Given the description of an element on the screen output the (x, y) to click on. 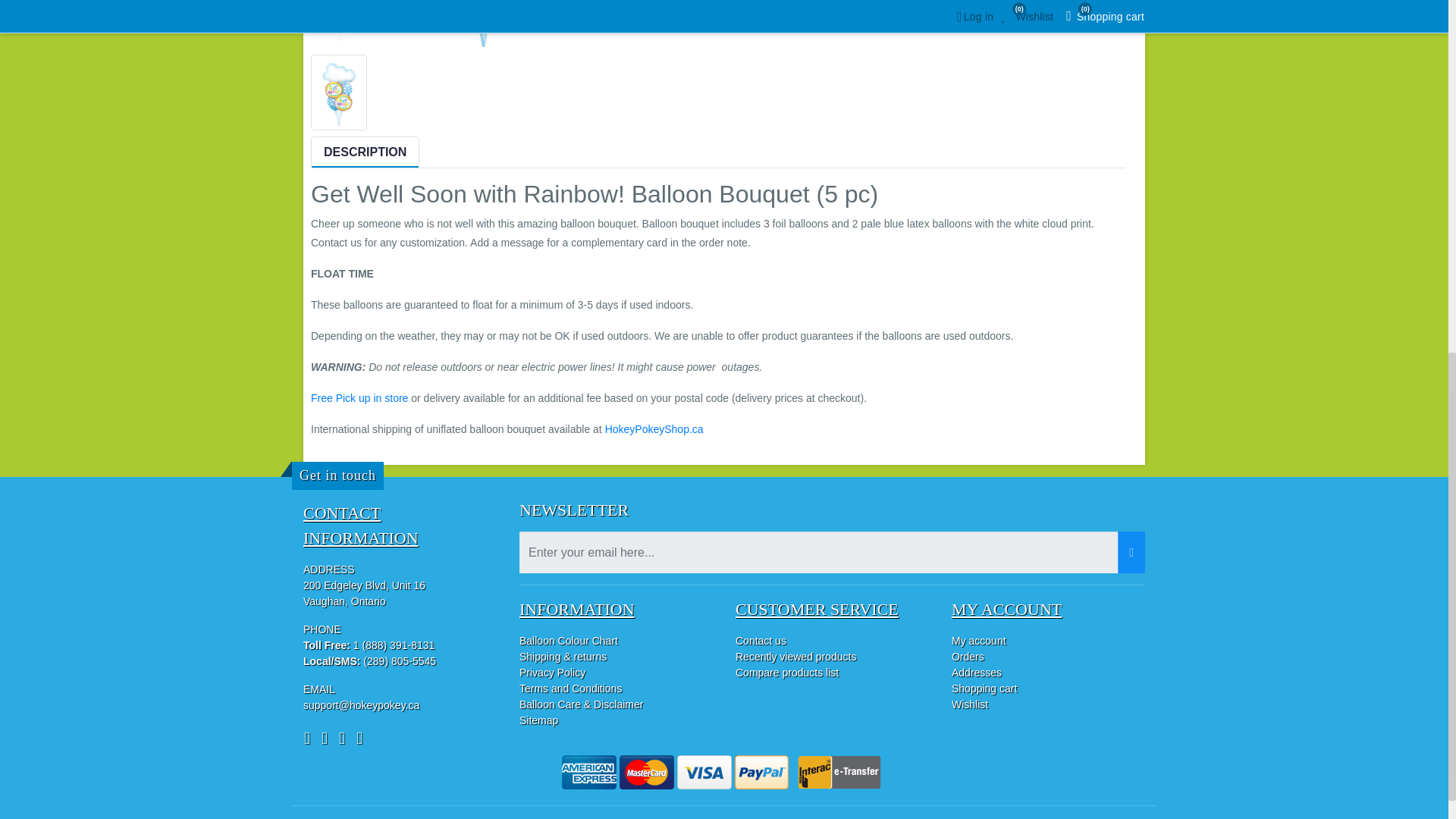
facebook (310, 739)
